Given the description of an element on the screen output the (x, y) to click on. 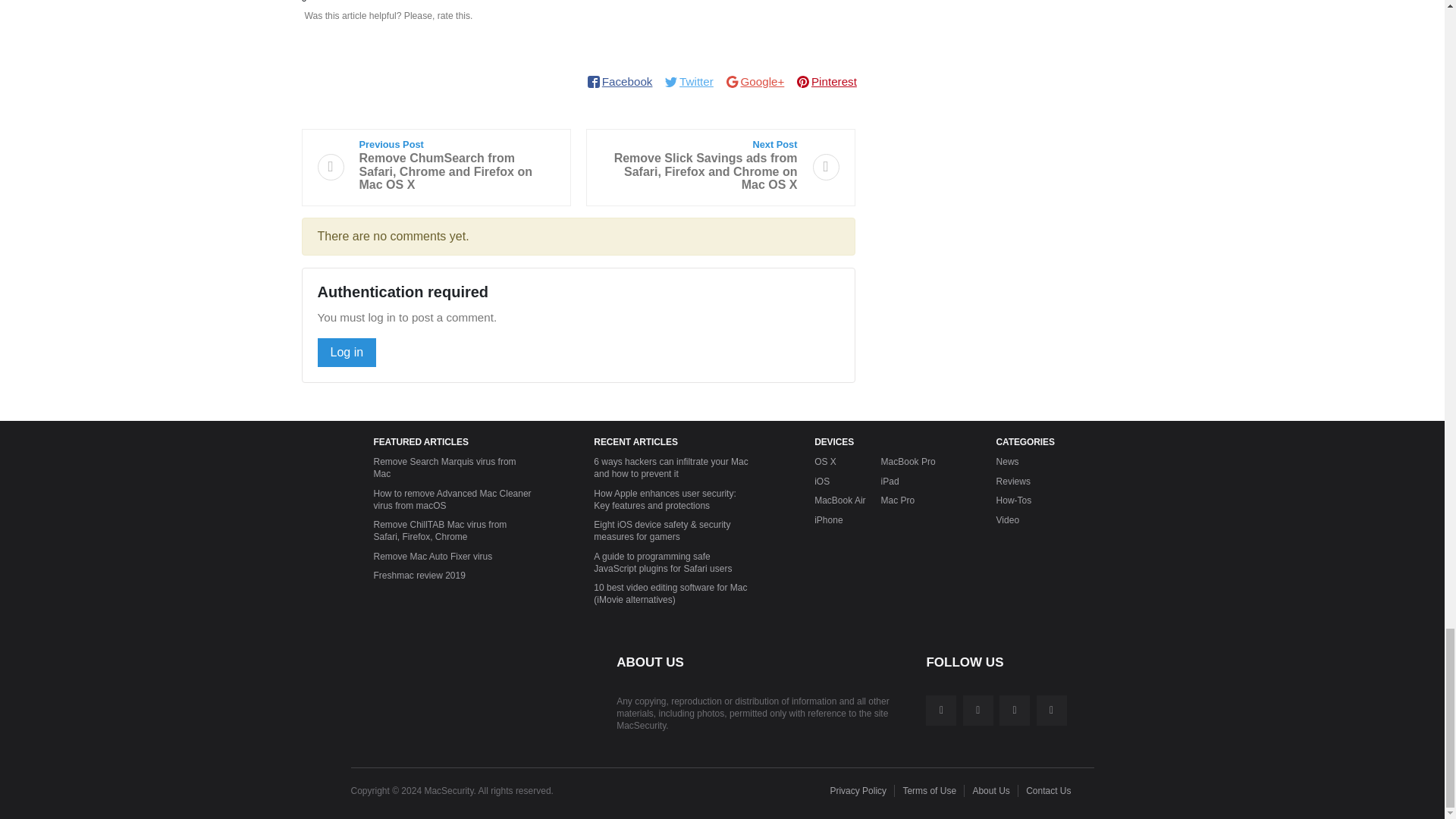
Log in (346, 352)
Share link on Facebook (618, 81)
Share link on Pinterest (825, 81)
Share link on Twitter (688, 81)
